Given the description of an element on the screen output the (x, y) to click on. 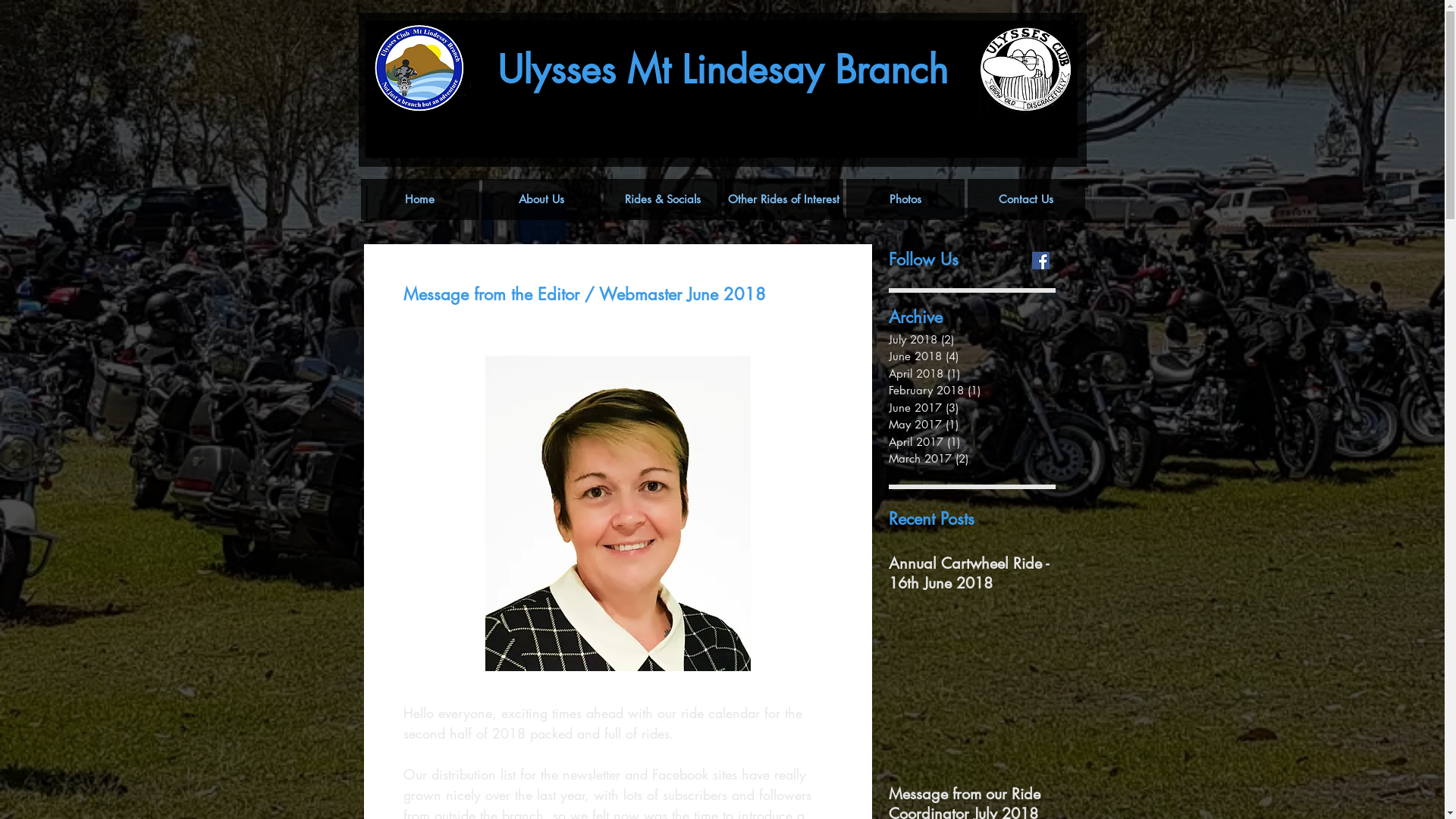
April 2018 (1) Element type: text (971, 373)
Rides & Socials Element type: text (662, 198)
May 2017 (1) Element type: text (971, 424)
Contact Us Element type: text (1026, 198)
April 2017 (1) Element type: text (971, 442)
March 2017 (2) Element type: text (971, 458)
February 2018 (1) Element type: text (971, 390)
Annual Cartwheel Ride - 16th June 2018 Element type: text (971, 573)
About Us Element type: text (541, 198)
Photos Element type: text (905, 198)
June 2018 (4) Element type: text (971, 356)
July 2018 (2) Element type: text (971, 339)
Other Rides of Interest Element type: text (783, 198)
June 2017 (3) Element type: text (971, 408)
Home Element type: text (419, 198)
